Given the description of an element on the screen output the (x, y) to click on. 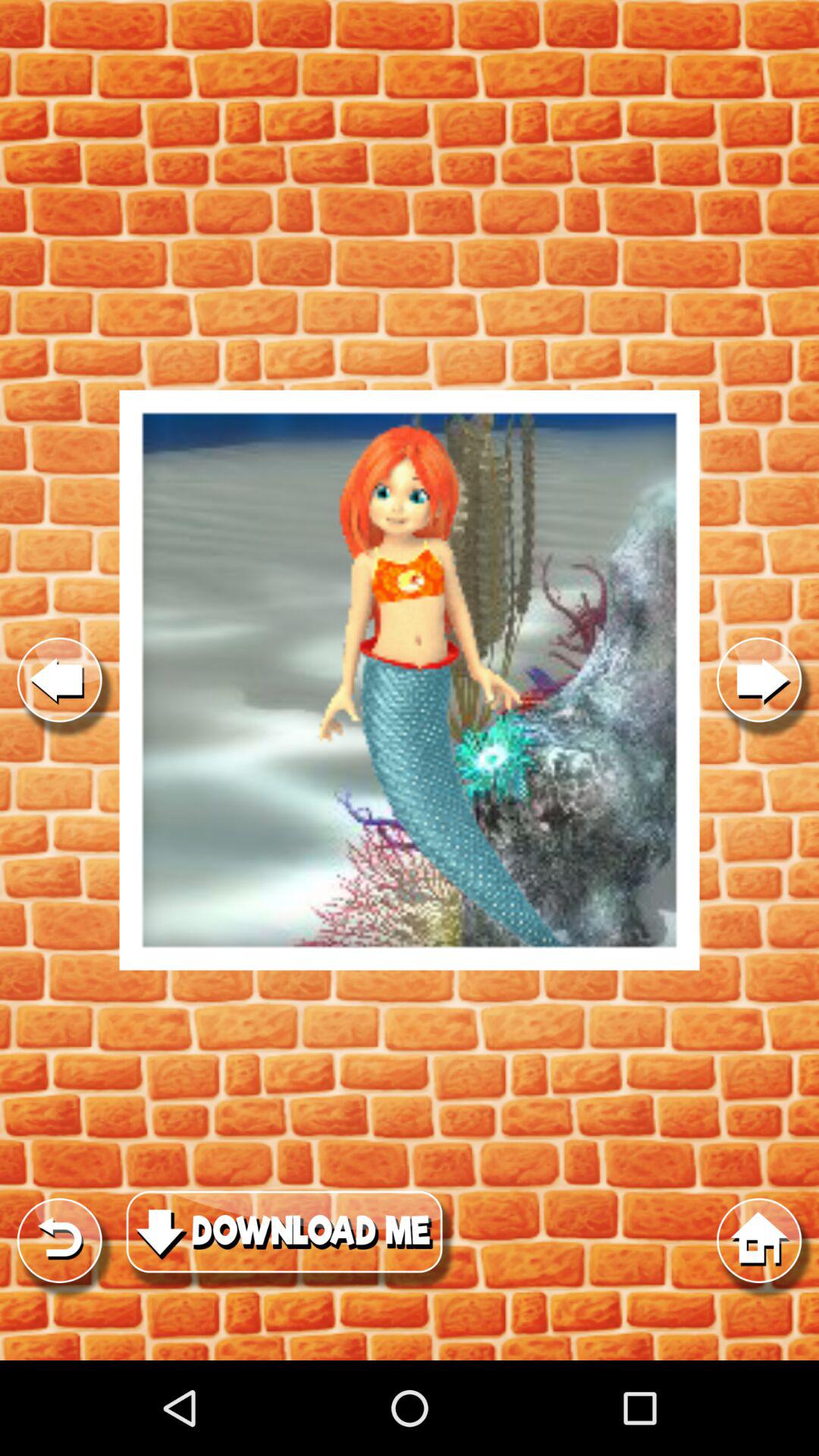
image display screen (409, 680)
